Given the description of an element on the screen output the (x, y) to click on. 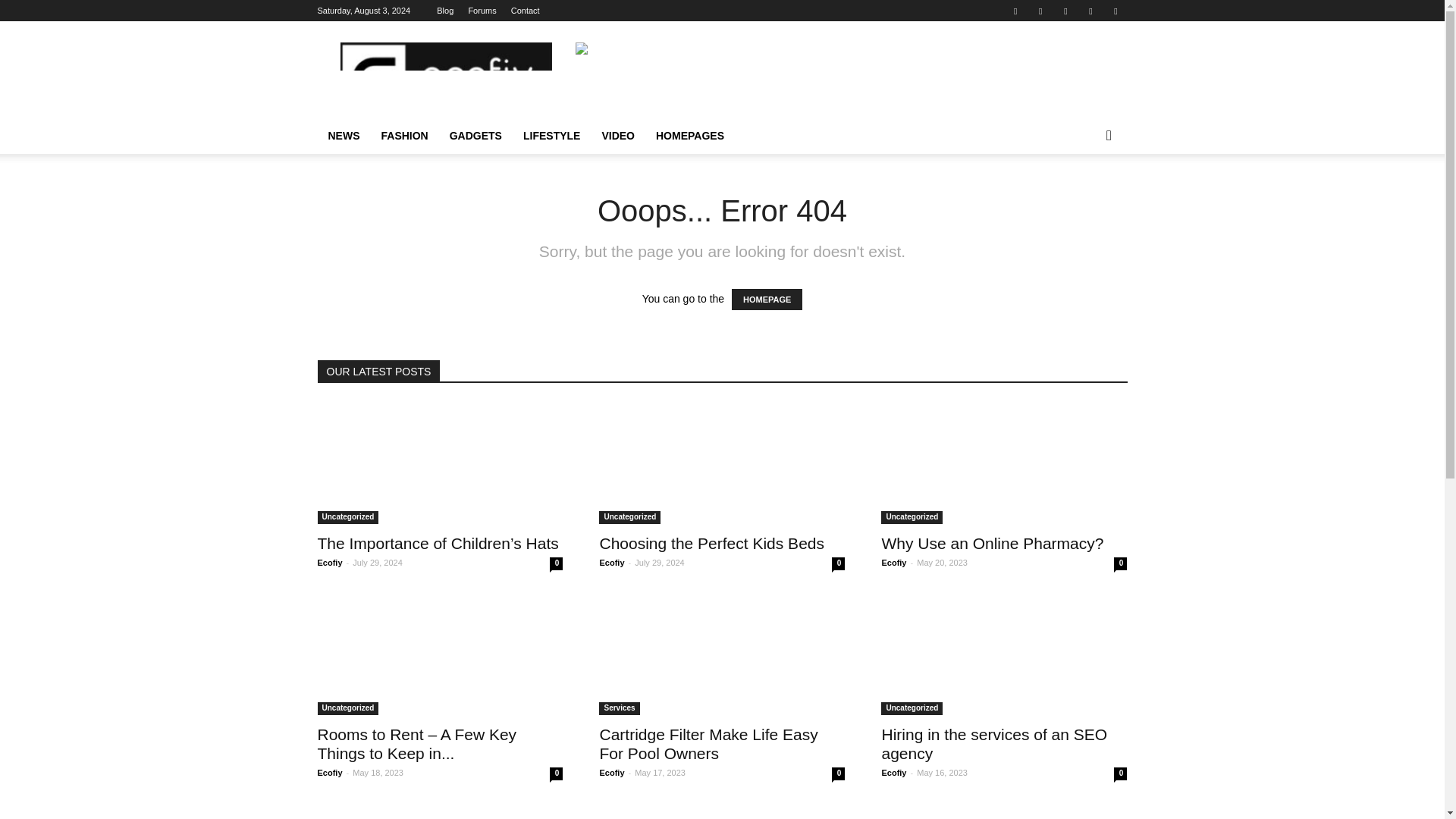
Forums (481, 10)
FASHION (403, 135)
Vimeo (1065, 10)
Youtube (1114, 10)
Blog (444, 10)
VKontakte (1090, 10)
NEWS (343, 135)
Contact (525, 10)
Facebook (1015, 10)
Twitter (1040, 10)
